Given the description of an element on the screen output the (x, y) to click on. 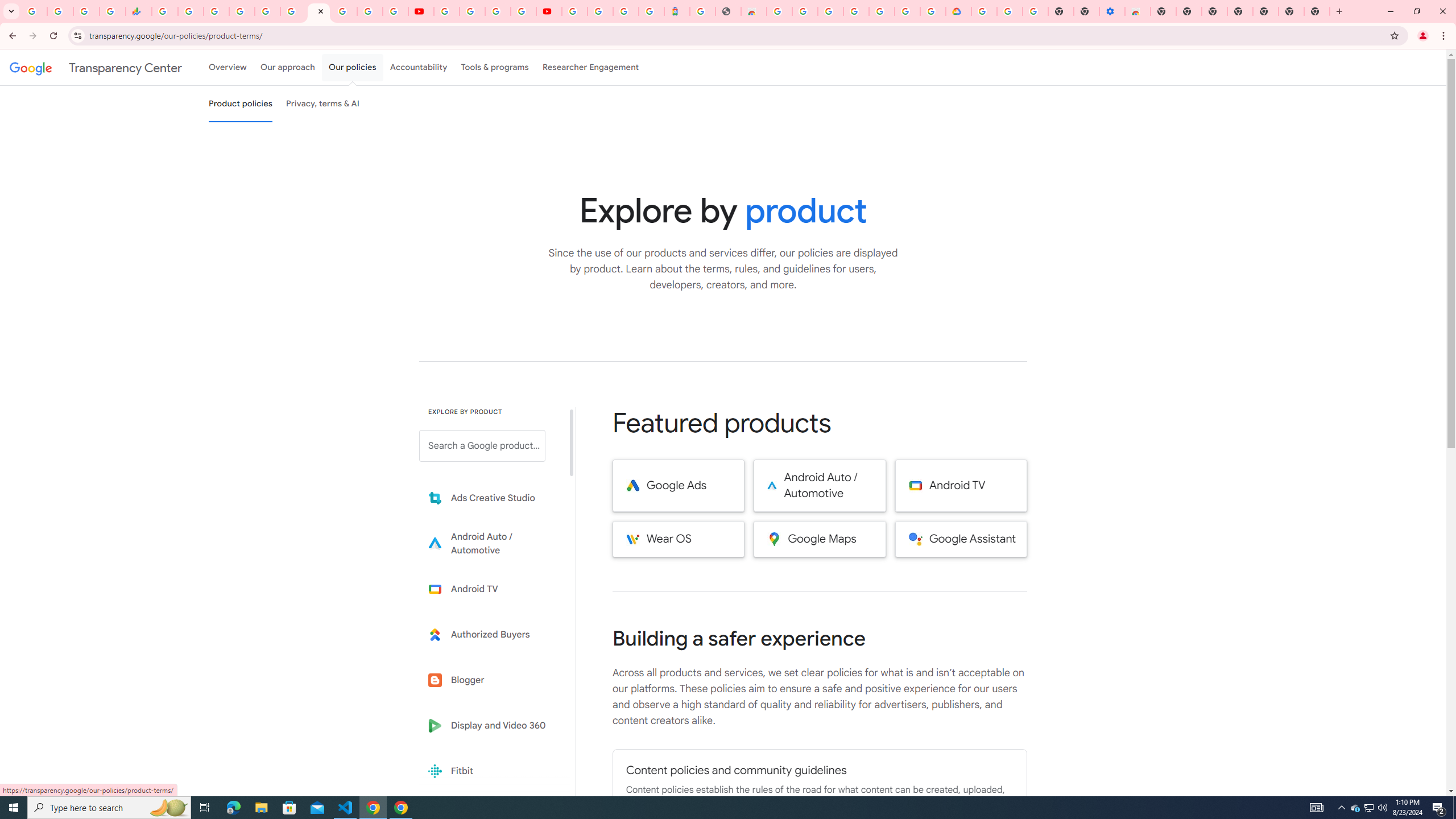
Our policies (351, 67)
Search a Google product from below list. (481, 445)
Atour Hotel - Google hotels (676, 11)
Sign in - Google Accounts (983, 11)
Learn more about Android TV (490, 588)
Content Creator Programs & Opportunities - YouTube Creators (548, 11)
Wear OS (678, 538)
Privacy, terms & AI (322, 103)
Display and Video 360 (490, 725)
